Given the description of an element on the screen output the (x, y) to click on. 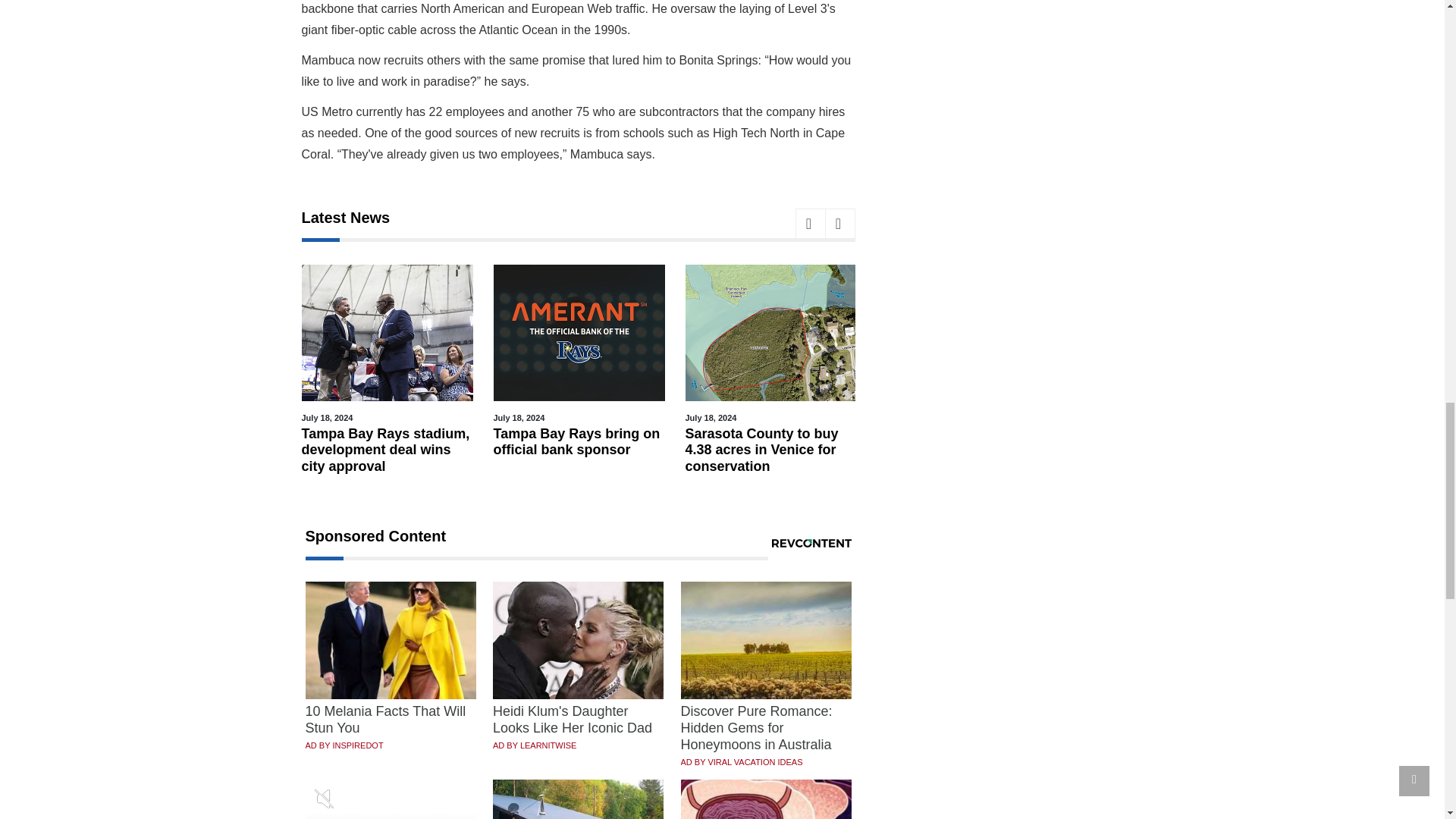
3rd party ad content (1010, 313)
3rd party ad content (1010, 101)
